Given the description of an element on the screen output the (x, y) to click on. 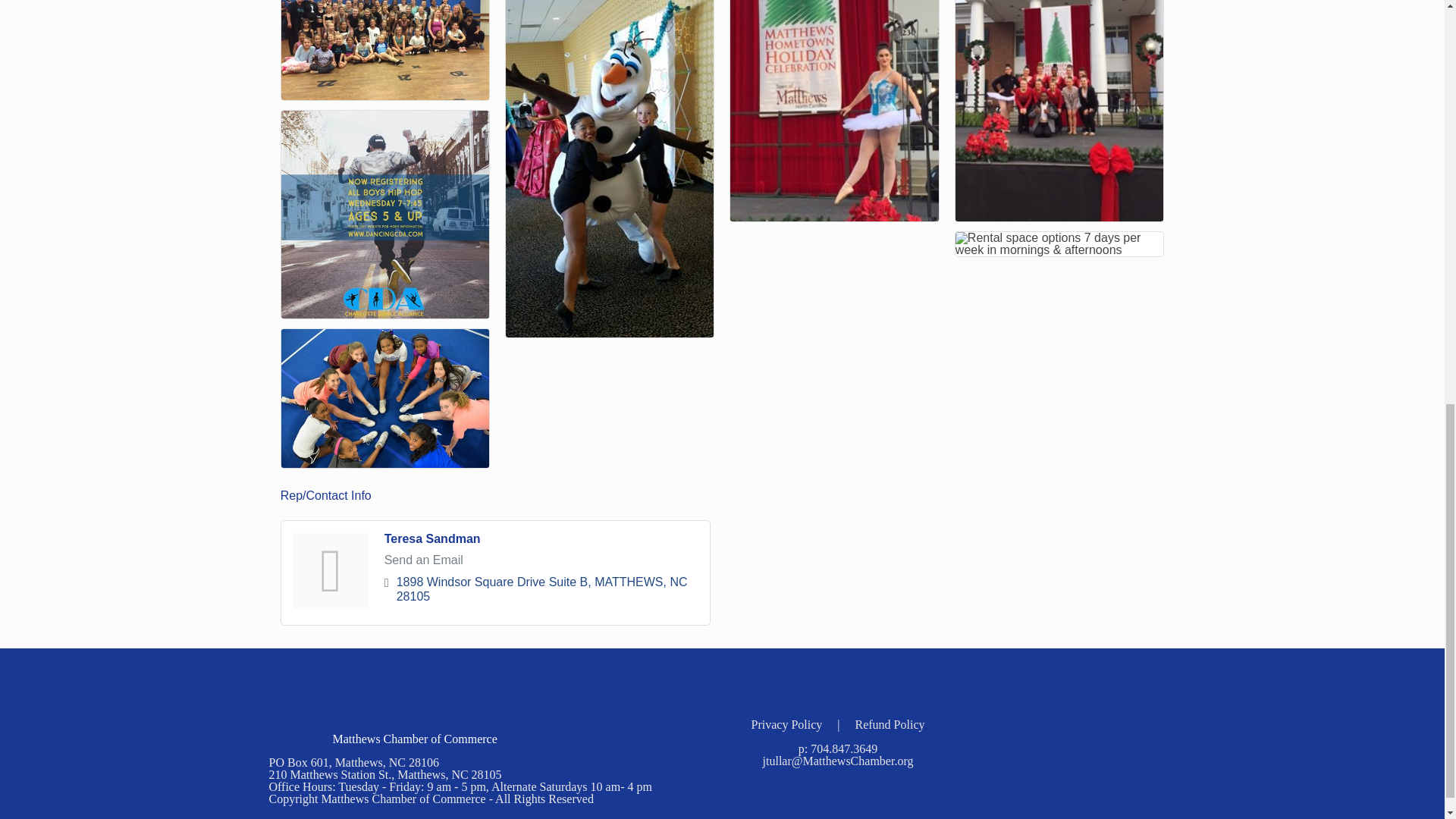
Gymnastics for ages 2.5 yrs and up. Allstar Cheer offered (385, 398)
Charlotte Dance Alliance competition team  (385, 49)
